Given the description of an element on the screen output the (x, y) to click on. 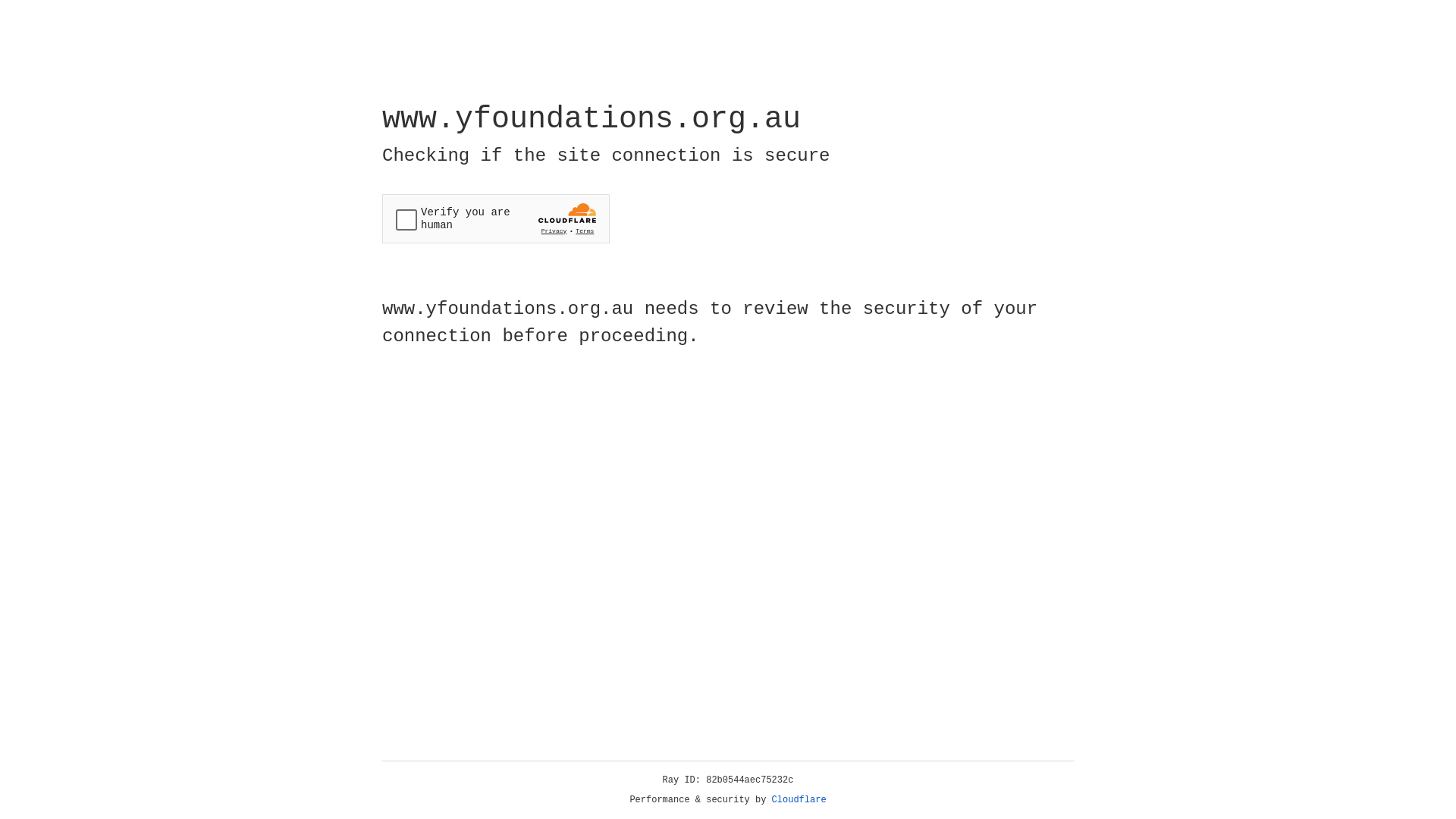
Widget containing a Cloudflare security challenge Element type: hover (495, 218)
Cloudflare Element type: text (798, 799)
